Given the description of an element on the screen output the (x, y) to click on. 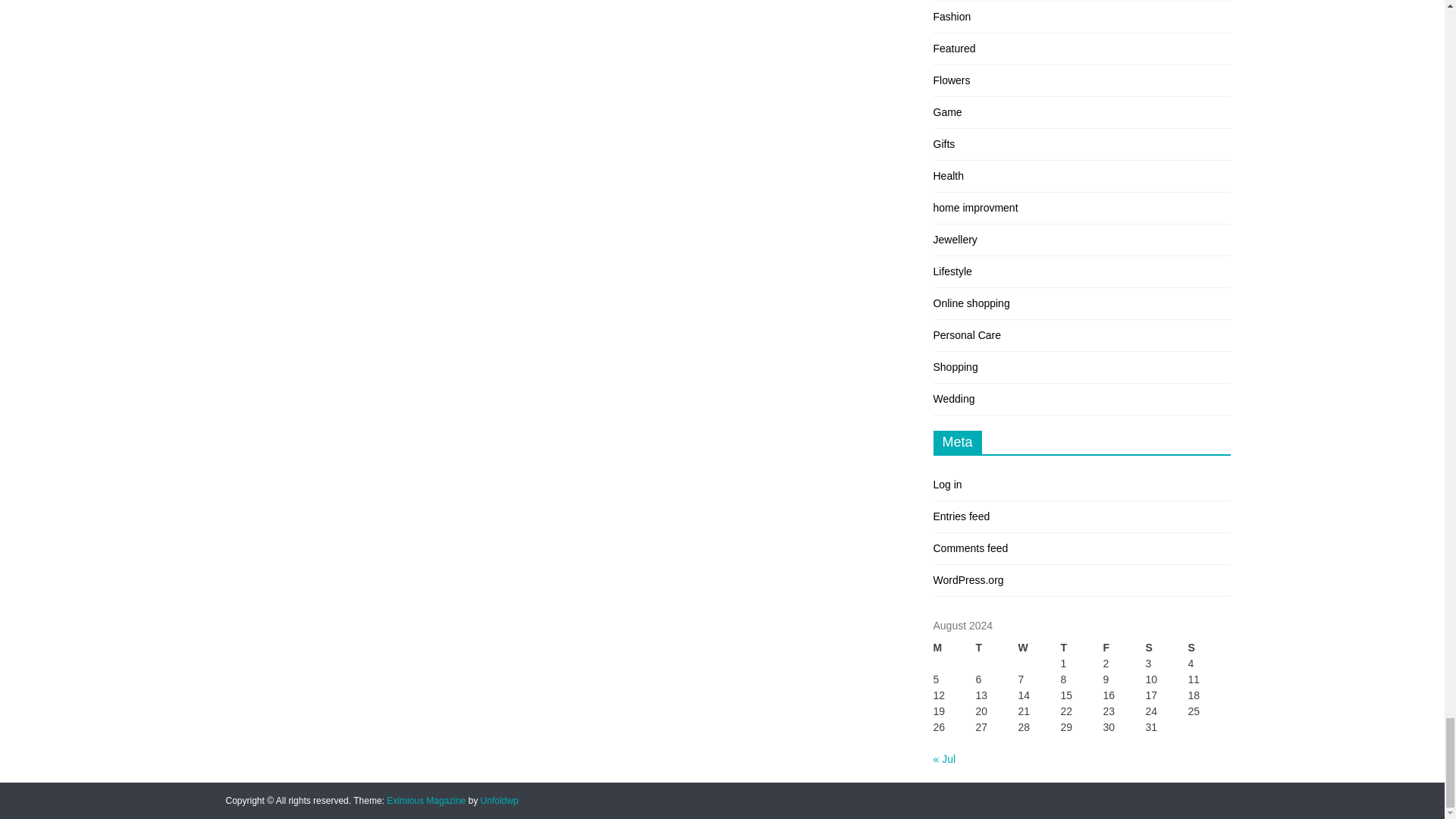
Friday (1123, 647)
Wednesday (1038, 647)
Tuesday (996, 647)
Sunday (1209, 647)
Monday (954, 647)
Saturday (1166, 647)
Thursday (1080, 647)
